Given the description of an element on the screen output the (x, y) to click on. 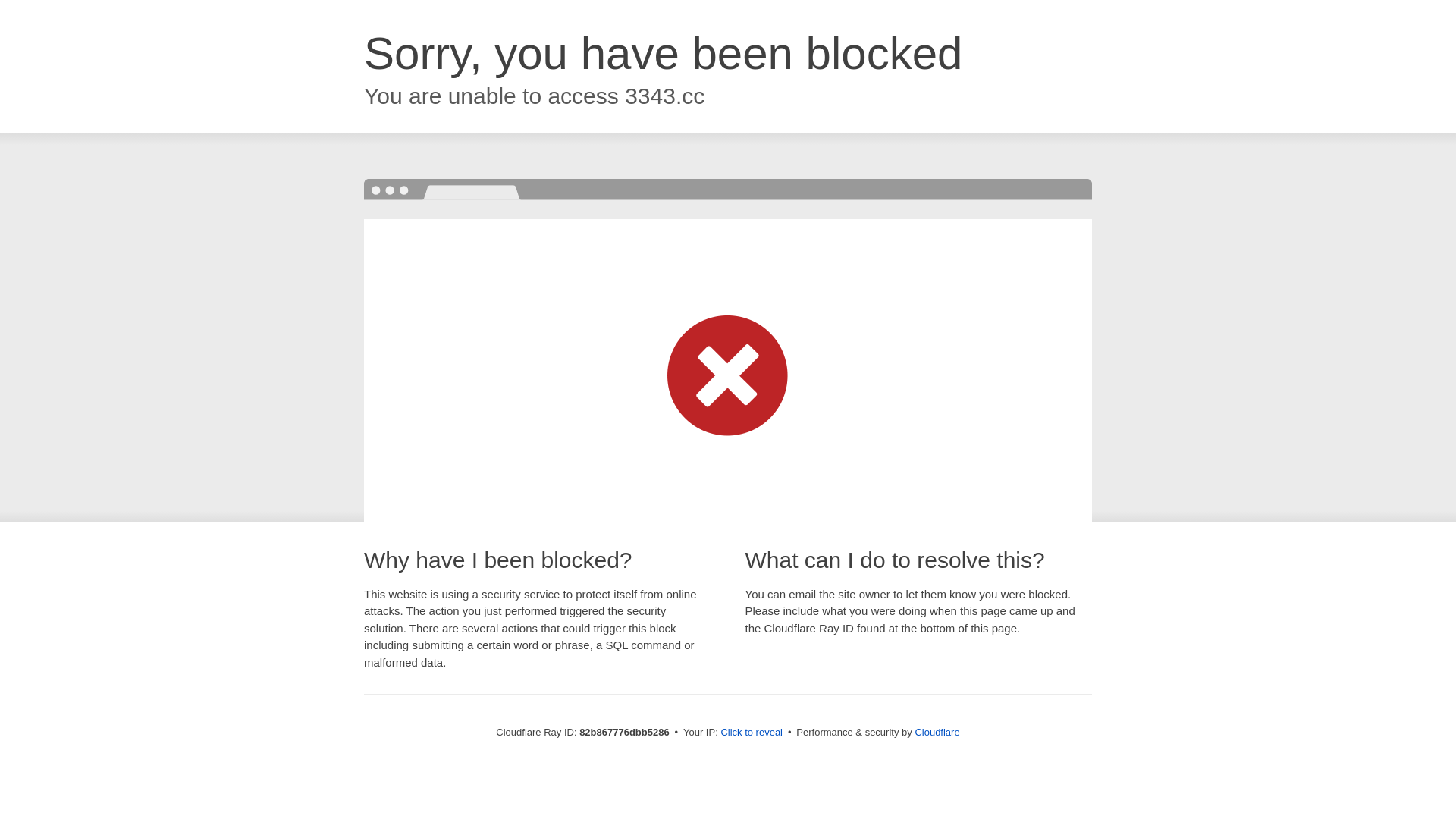
Cloudflare Element type: text (936, 731)
Click to reveal Element type: text (751, 732)
